Given the description of an element on the screen output the (x, y) to click on. 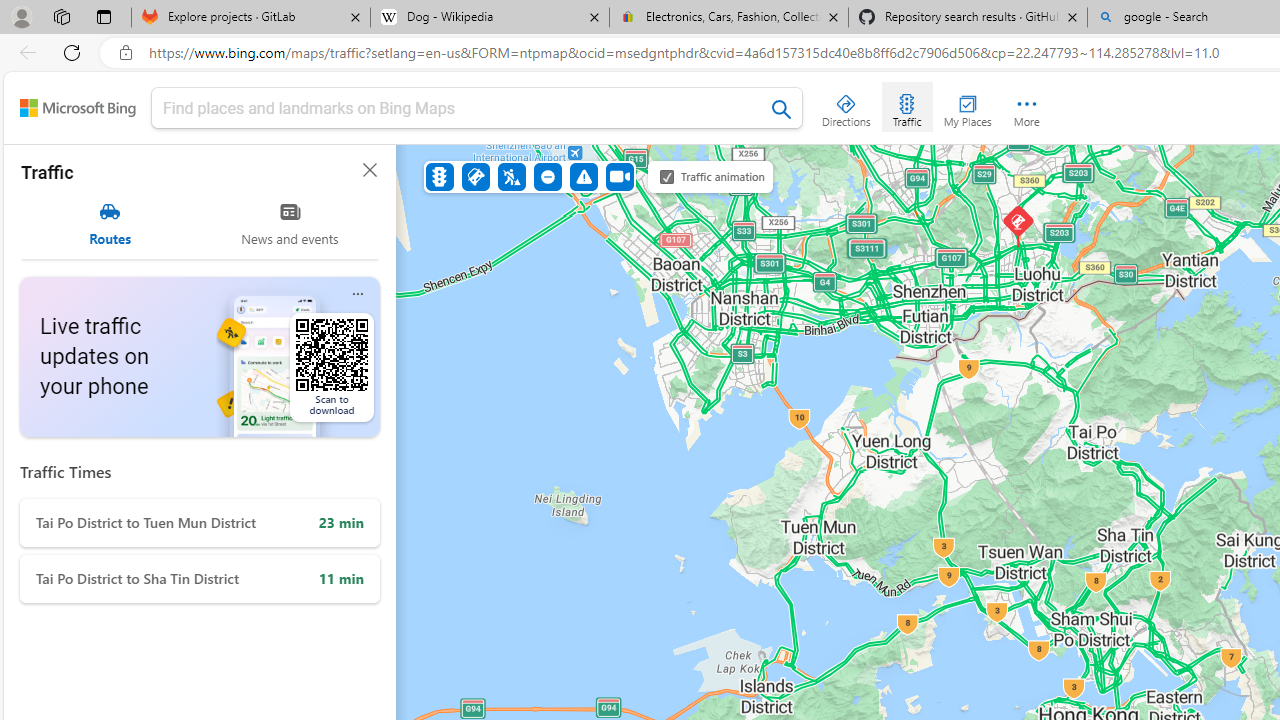
Road Closures (547, 176)
Dog - Wikipedia (490, 17)
Routes (109, 223)
To get missing image descriptions, open the context menu. (298, 357)
Live traffic updates on your phone Scan to download (200, 357)
Accidents (476, 176)
Directions (846, 106)
